Given the description of an element on the screen output the (x, y) to click on. 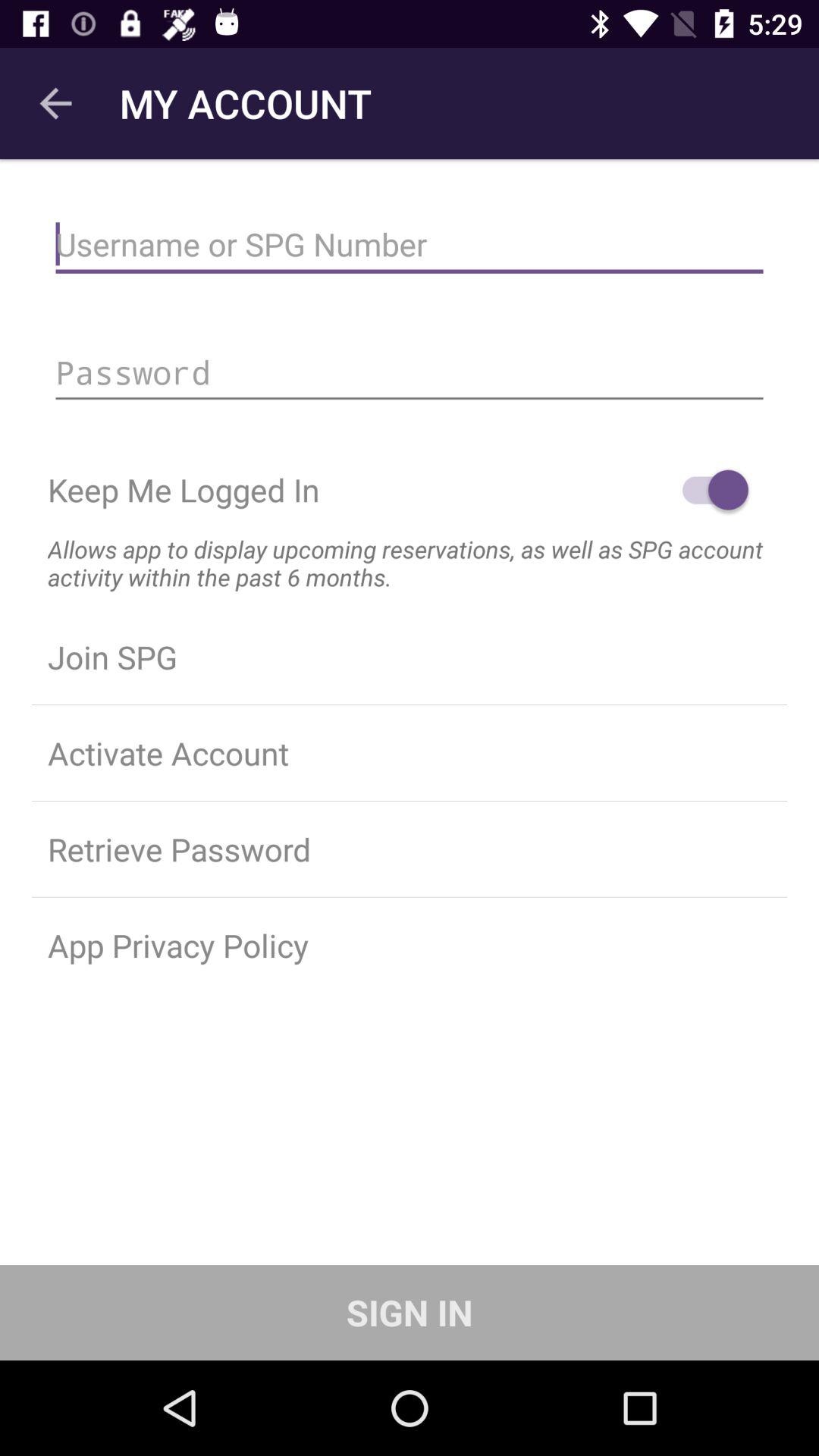
swipe to retrieve password (409, 848)
